Given the description of an element on the screen output the (x, y) to click on. 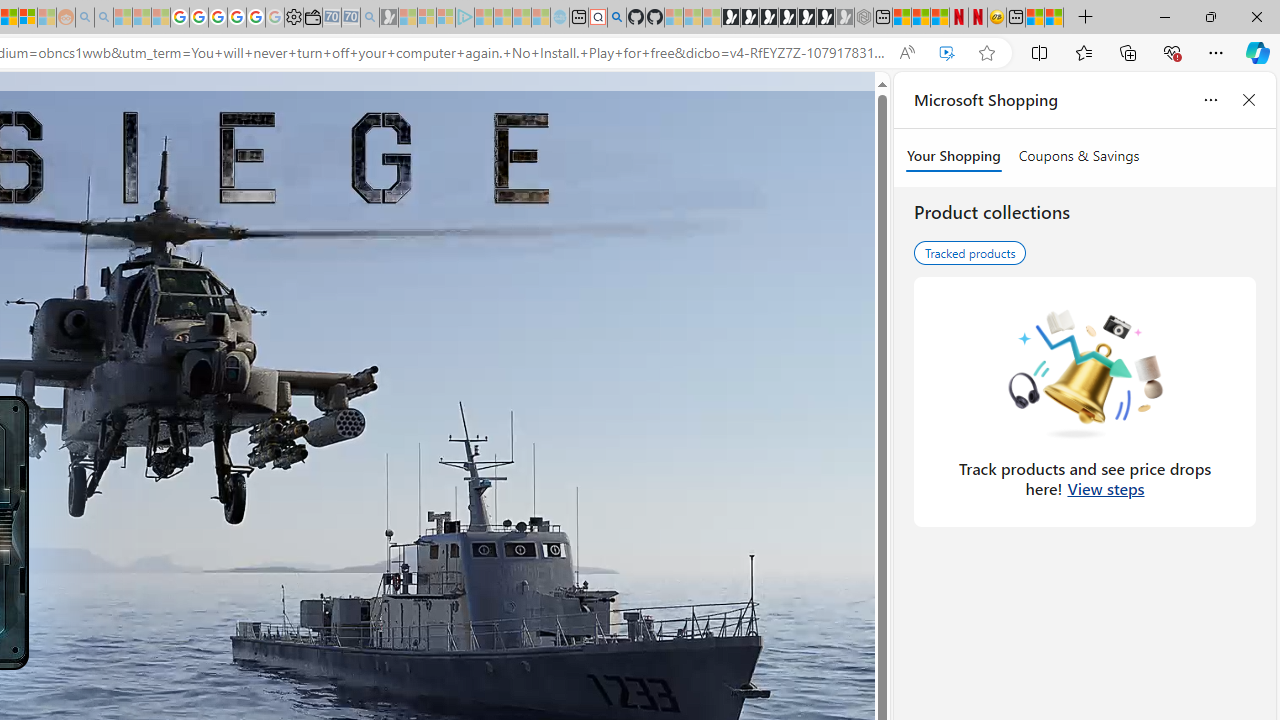
Cheap Car Rentals - Save70.com - Sleeping (350, 17)
